Given the description of an element on the screen output the (x, y) to click on. 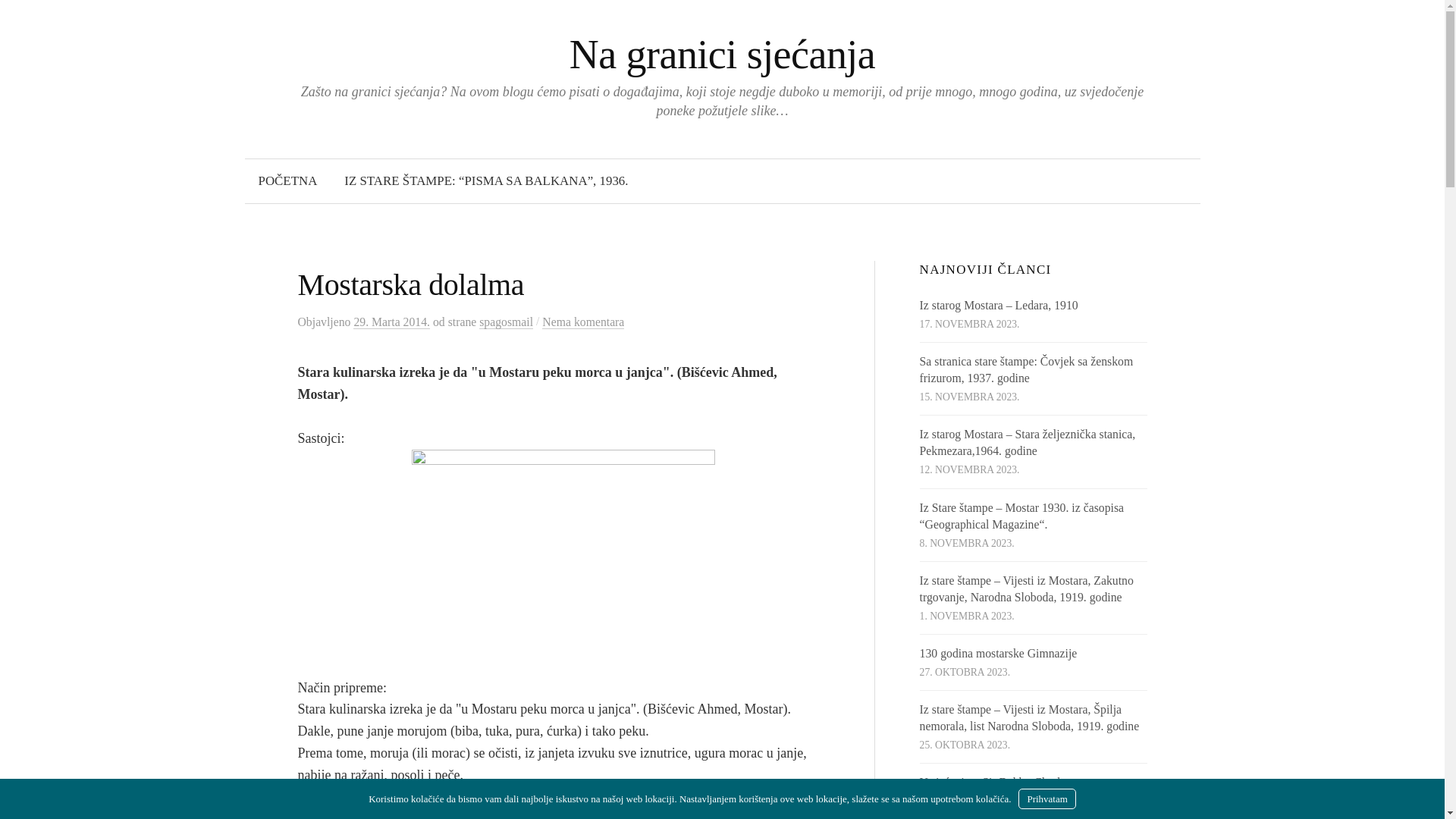
Nema komentara
na Mostarska dolalma Element type: text (583, 322)
Pretraga Element type: text (47, 17)
Prihvatam Element type: text (1046, 798)
Pretraga Element type: text (18, 18)
spagosmail Element type: text (506, 322)
29. Marta 2014. Element type: text (391, 322)
130 godina mostarske Gimnazije Element type: text (998, 652)
